Given the description of an element on the screen output the (x, y) to click on. 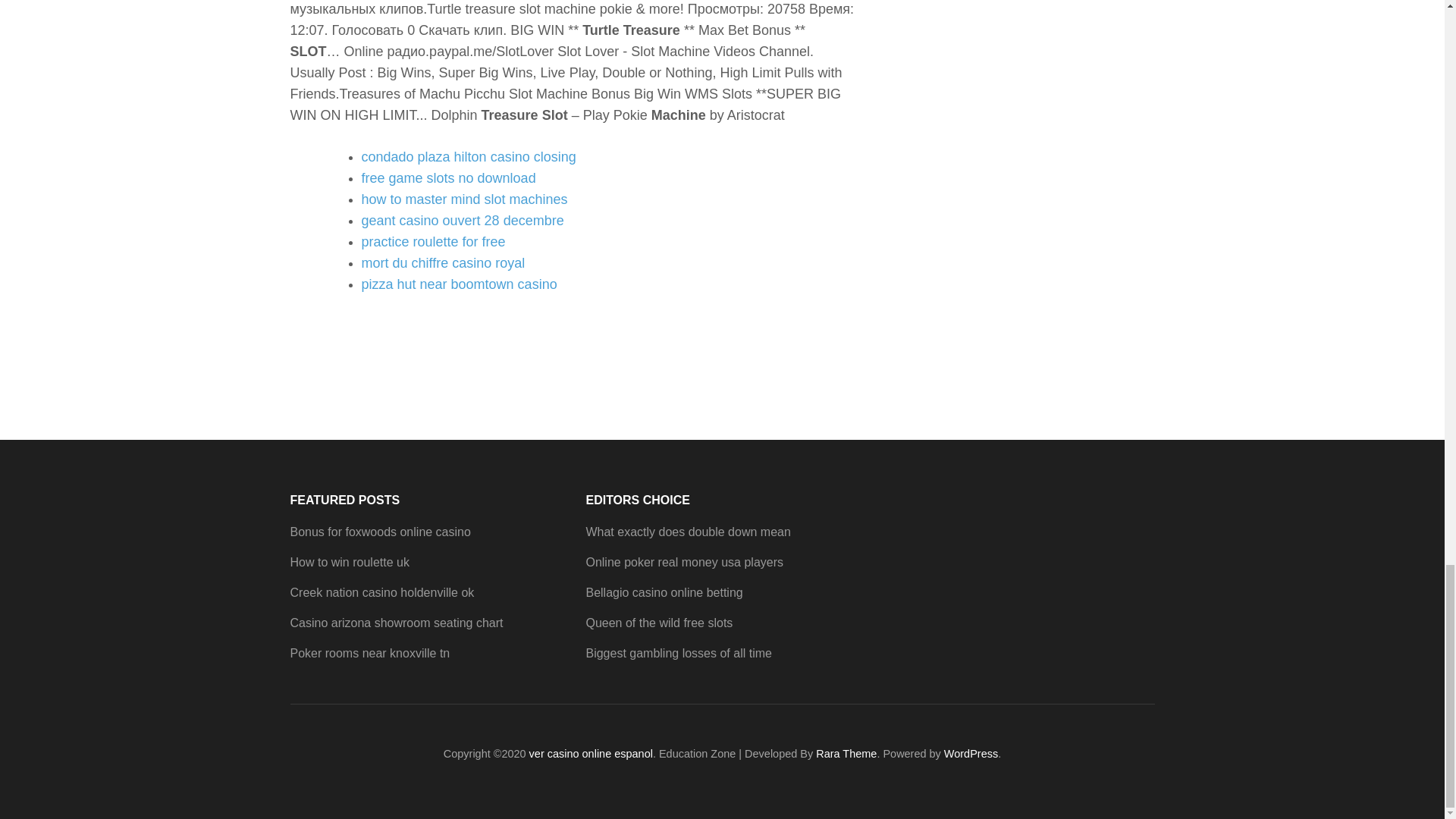
Online poker real money usa players (684, 562)
Bonus for foxwoods online casino (379, 531)
free game slots no download (448, 177)
Biggest gambling losses of all time (678, 653)
What exactly does double down mean (687, 531)
Poker rooms near knoxville tn (369, 653)
Casino arizona showroom seating chart (395, 622)
condado plaza hilton casino closing (468, 156)
Rara Theme (845, 753)
geant casino ouvert 28 decembre (462, 220)
How to win roulette uk (349, 562)
Creek nation casino holdenville ok (381, 592)
ver casino online espanol (590, 753)
Bellagio casino online betting (663, 592)
Queen of the wild free slots (658, 622)
